Given the description of an element on the screen output the (x, y) to click on. 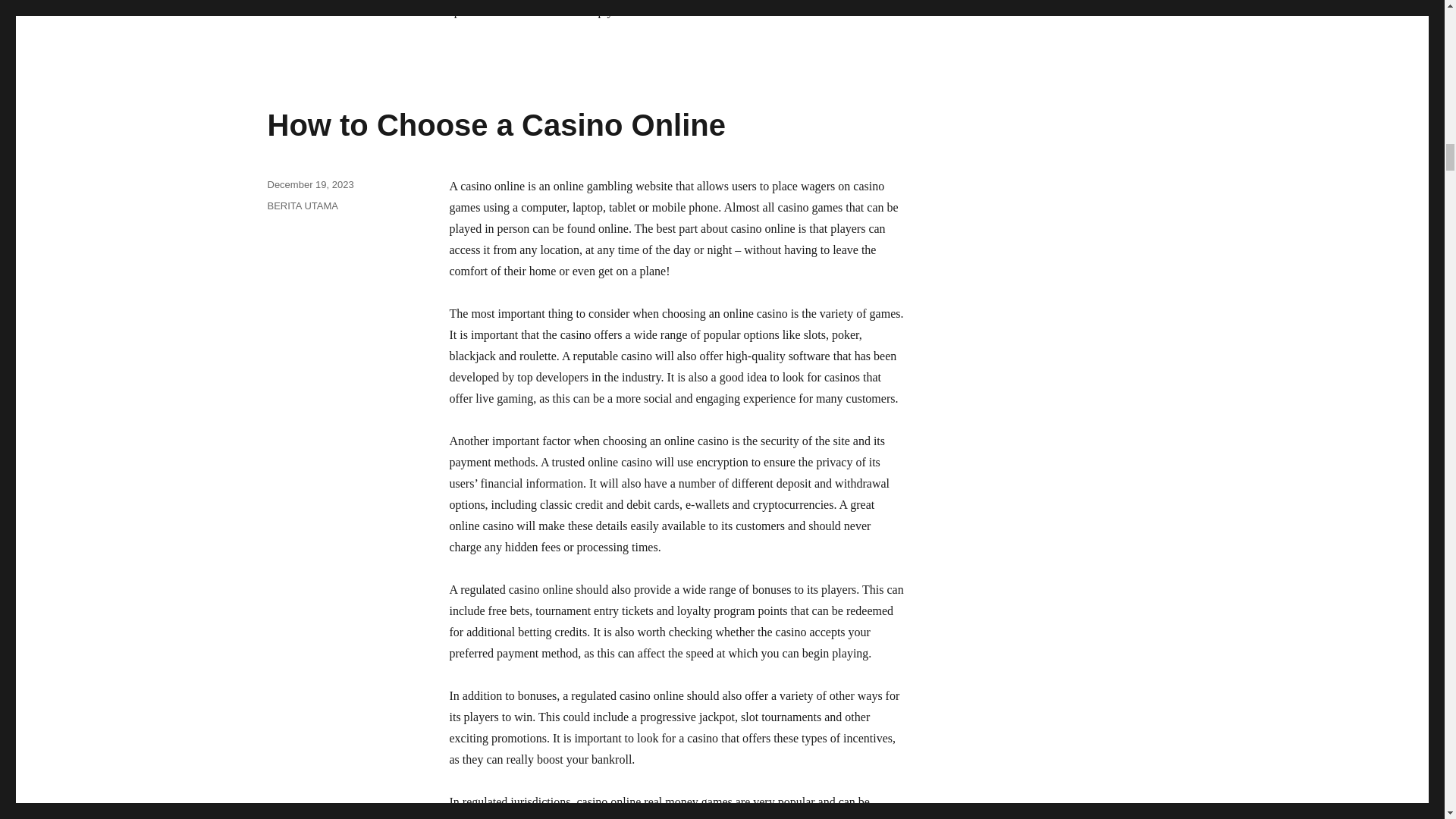
December 19, 2023 (309, 184)
How to Choose a Casino Online (495, 124)
